Given the description of an element on the screen output the (x, y) to click on. 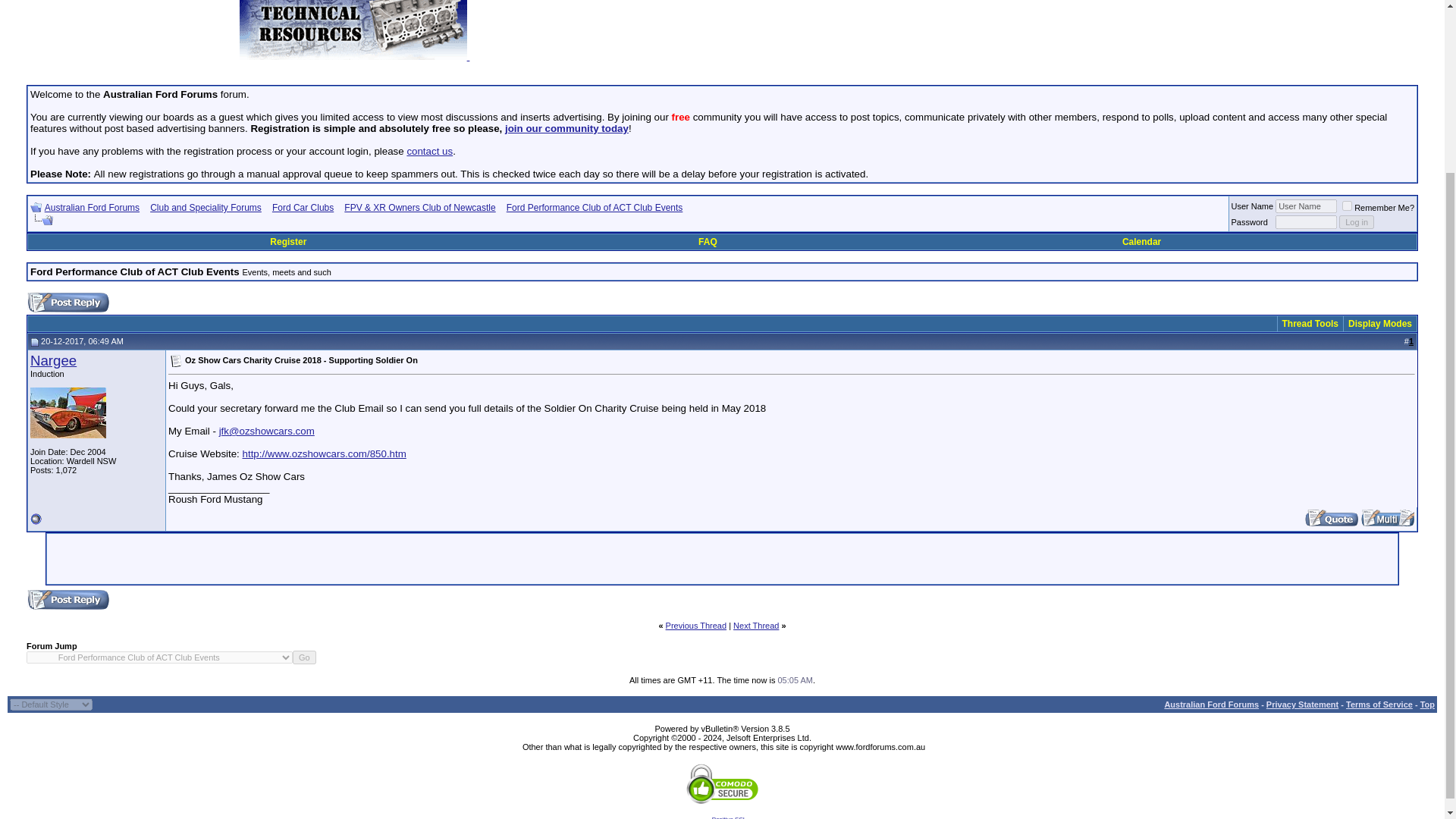
Previous Thread (695, 624)
Log in (1356, 222)
Thread Tools (1310, 323)
Reply (68, 302)
Log in (1356, 222)
Go (303, 657)
Nargee (53, 360)
Advertisement (836, 29)
Ford Car Clubs (302, 207)
Australian Ford Forums (92, 207)
Ford Performance Club of ACT Club Events (594, 207)
Reload this Page (41, 220)
1 (1347, 205)
Go Back (36, 206)
